Given the description of an element on the screen output the (x, y) to click on. 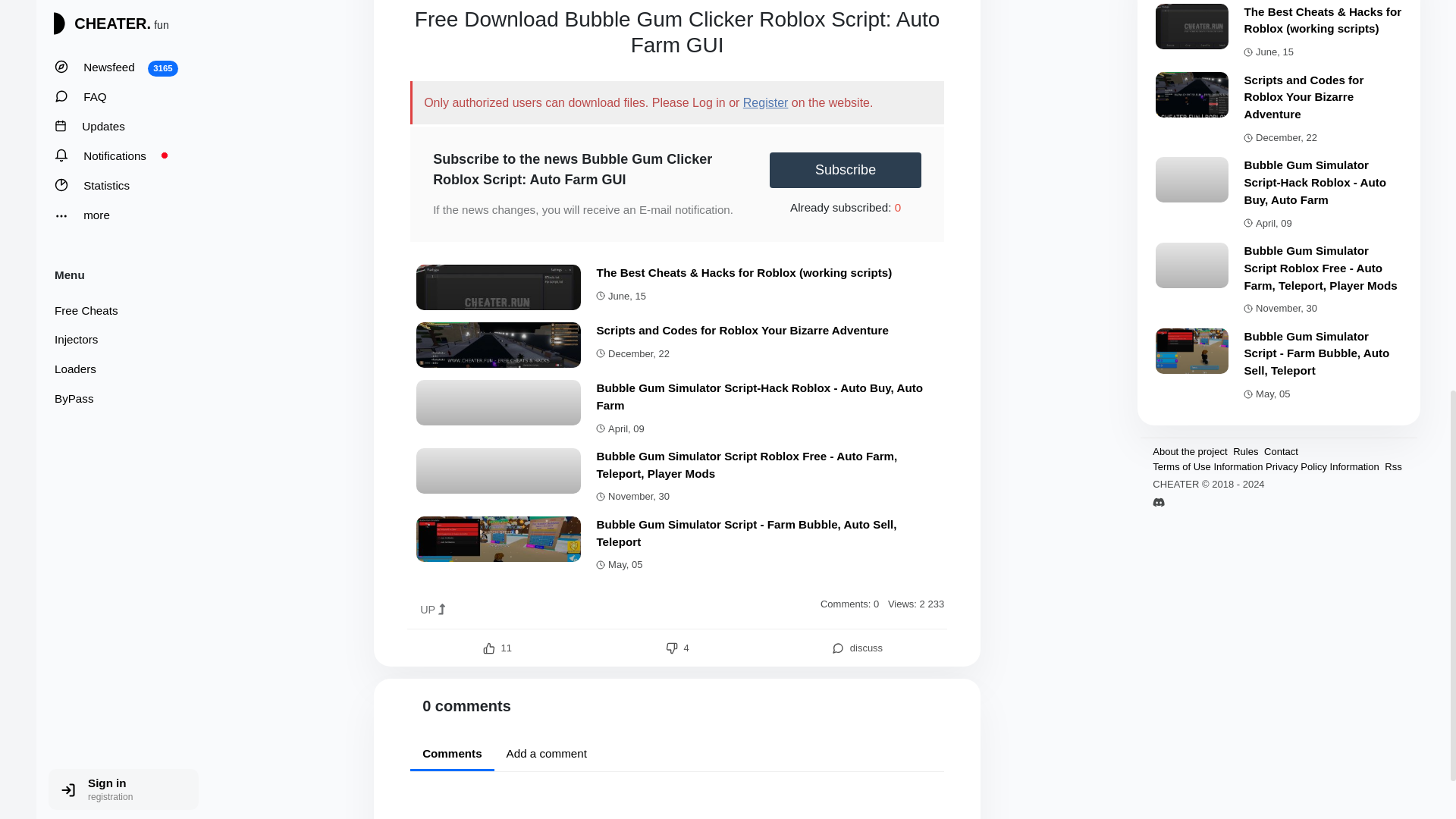
Scripts and Codes for Roblox Your Bizarre Adventure (741, 329)
4 (676, 648)
Register (765, 102)
11 (496, 648)
discuss (856, 648)
Add a comment (546, 754)
UP (432, 609)
Comments (451, 755)
